Given the description of an element on the screen output the (x, y) to click on. 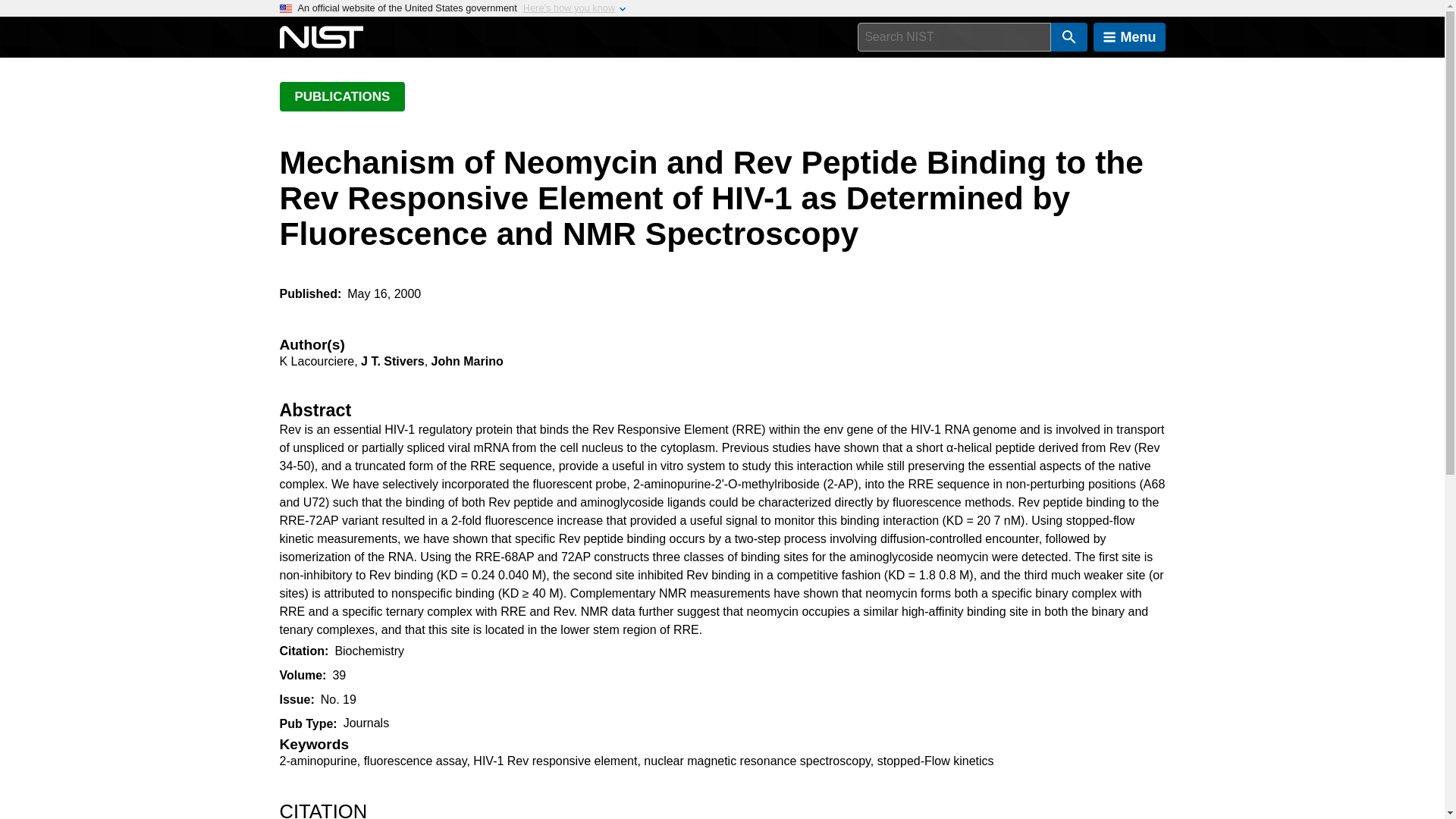
PUBLICATIONS (341, 96)
National Institute of Standards and Technology (320, 36)
Menu (1129, 36)
